Given the description of an element on the screen output the (x, y) to click on. 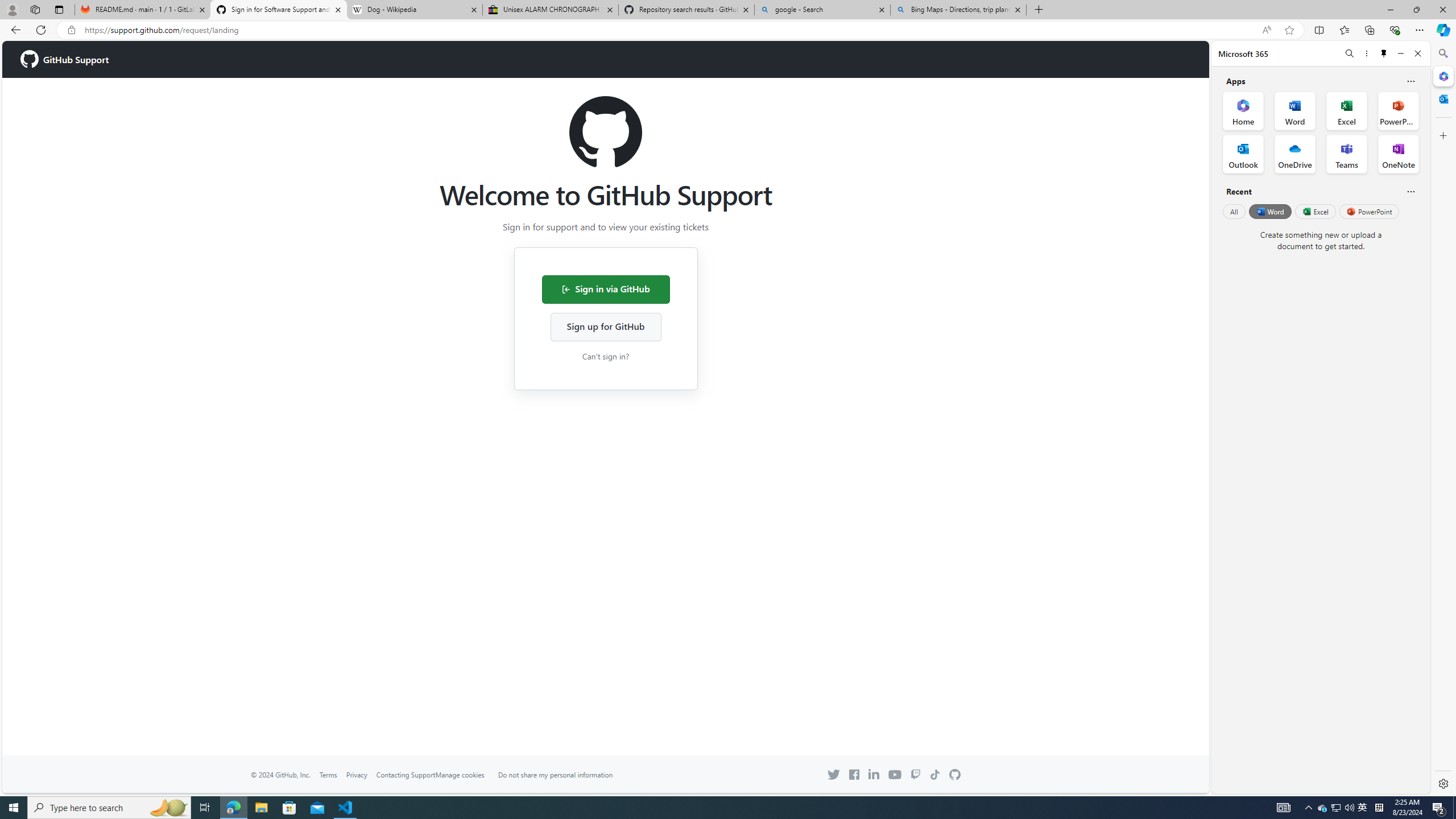
GitHub on YouTube (894, 773)
OneNote Office App (1398, 154)
Linkedin icon GitHub on LinkedIn (873, 773)
GitHub on TikTok (935, 774)
Can't sign in? (605, 355)
Terms (327, 773)
Manage cookiesDo not share my personal information (530, 774)
Unpin side pane (1383, 53)
GitHub mark (954, 774)
